Given the description of an element on the screen output the (x, y) to click on. 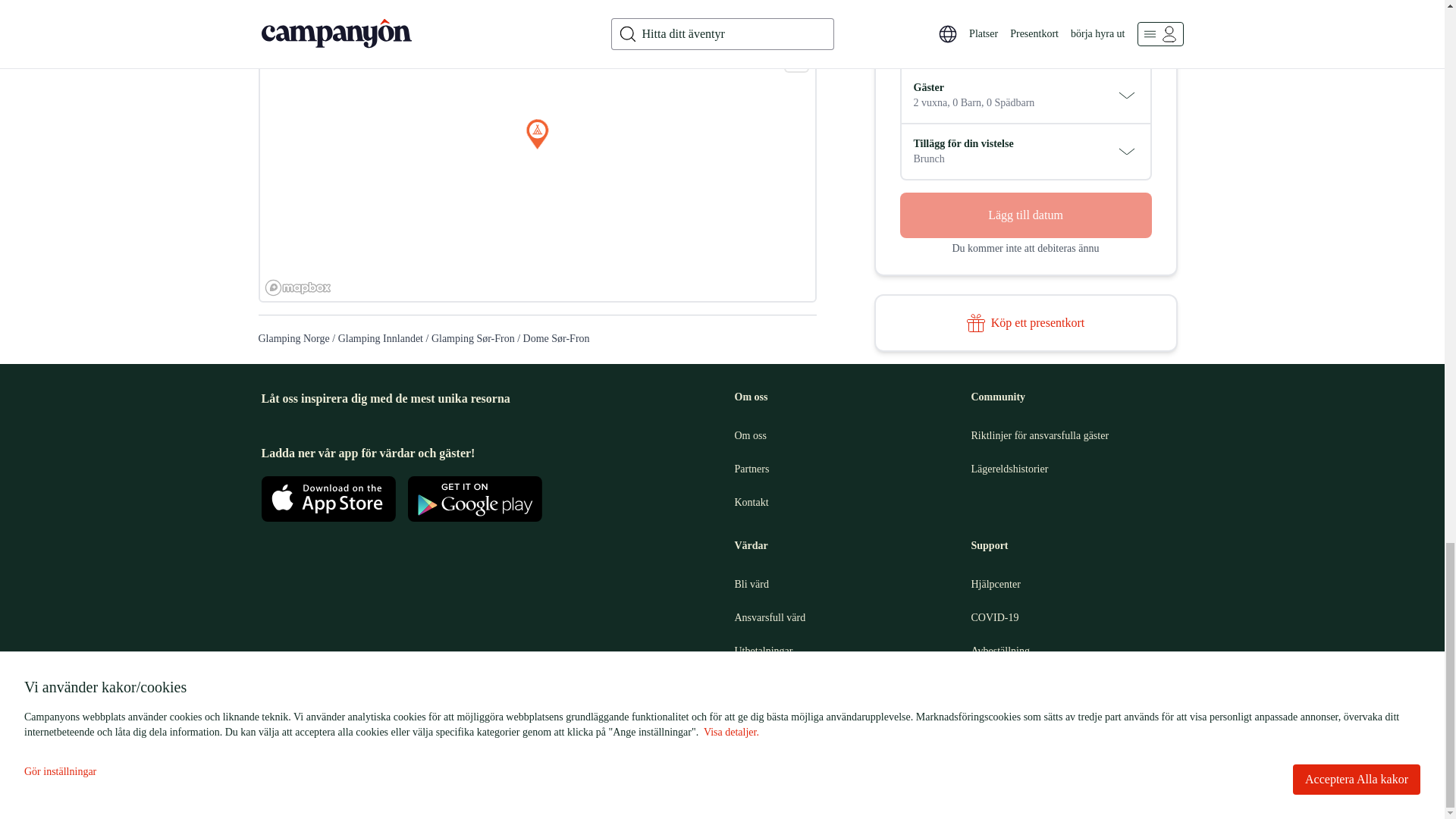
Zoom in (797, 15)
Zoom out (797, 38)
Reset bearing to north (797, 60)
Glamping Innlandet (380, 337)
Glamping Norge (293, 337)
